Given the description of an element on the screen output the (x, y) to click on. 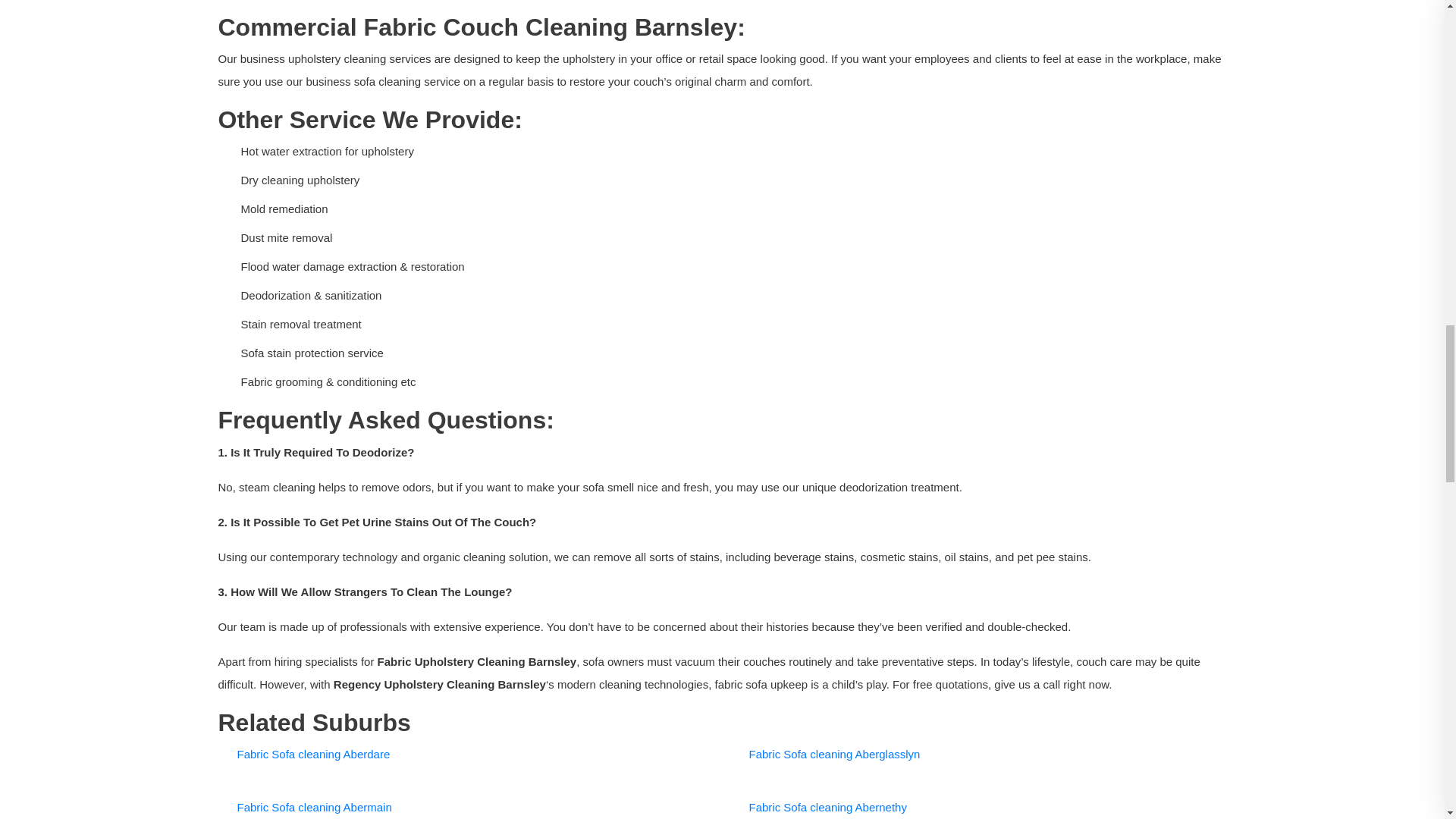
Fabric Sofa cleaning Abernethy (828, 807)
Fabric Sofa cleaning Aberdare (312, 753)
Fabric Sofa cleaning Aberglasslyn (834, 753)
Fabric Sofa cleaning Aberdare (312, 753)
Fabric Sofa cleaning Abermain (313, 807)
Fabric Sofa cleaning Aberglasslyn (834, 753)
Fabric Sofa cleaning Abermain (313, 807)
Fabric Sofa cleaning Abernethy (828, 807)
